Given the description of an element on the screen output the (x, y) to click on. 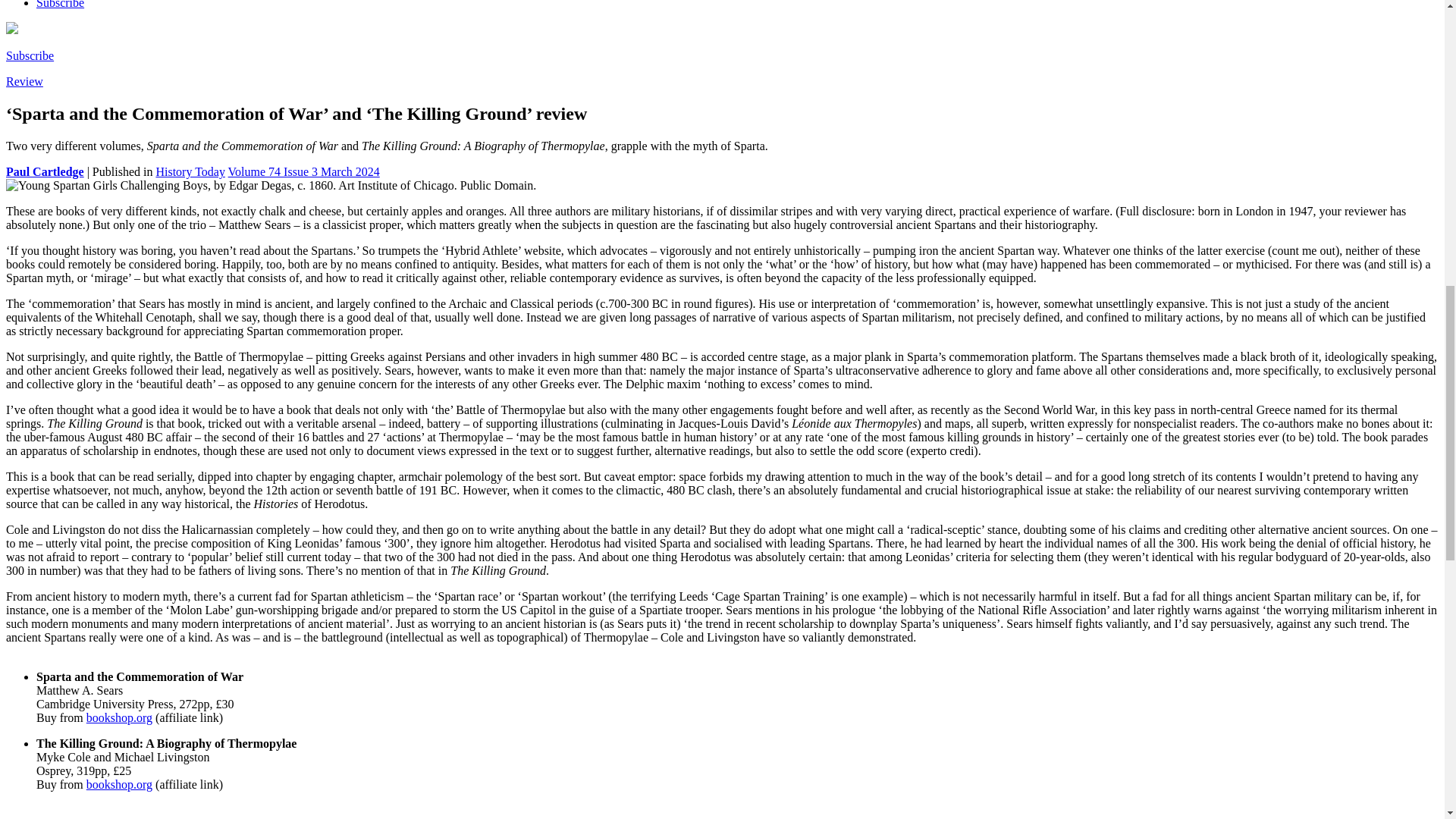
Paul Cartledge (44, 171)
Review (24, 81)
History Today (189, 171)
Subscribe (60, 4)
Subscribe (29, 55)
bookshop.org (118, 784)
Volume 74 Issue 3 March 2024 (304, 171)
bookshop.org (118, 717)
